Given the description of an element on the screen output the (x, y) to click on. 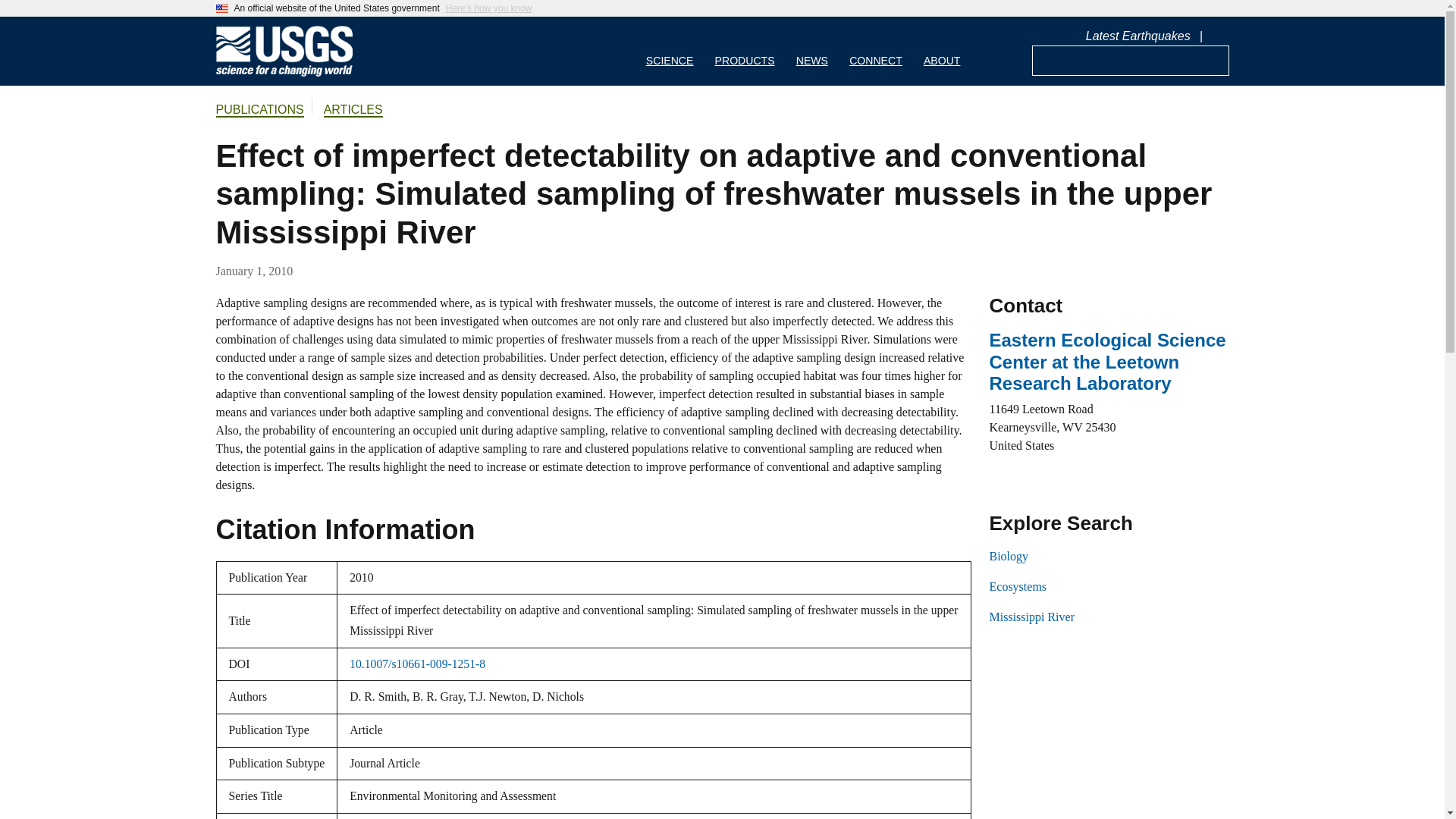
ARTICLES (352, 110)
CONNECT (875, 50)
NEWS (812, 50)
Here's how you know (488, 8)
PRODUCTS (745, 50)
Latest Earthquakes (1138, 35)
ABOUT (941, 50)
Home (283, 72)
PUBLICATIONS (258, 110)
SCIENCE (669, 50)
